Given the description of an element on the screen output the (x, y) to click on. 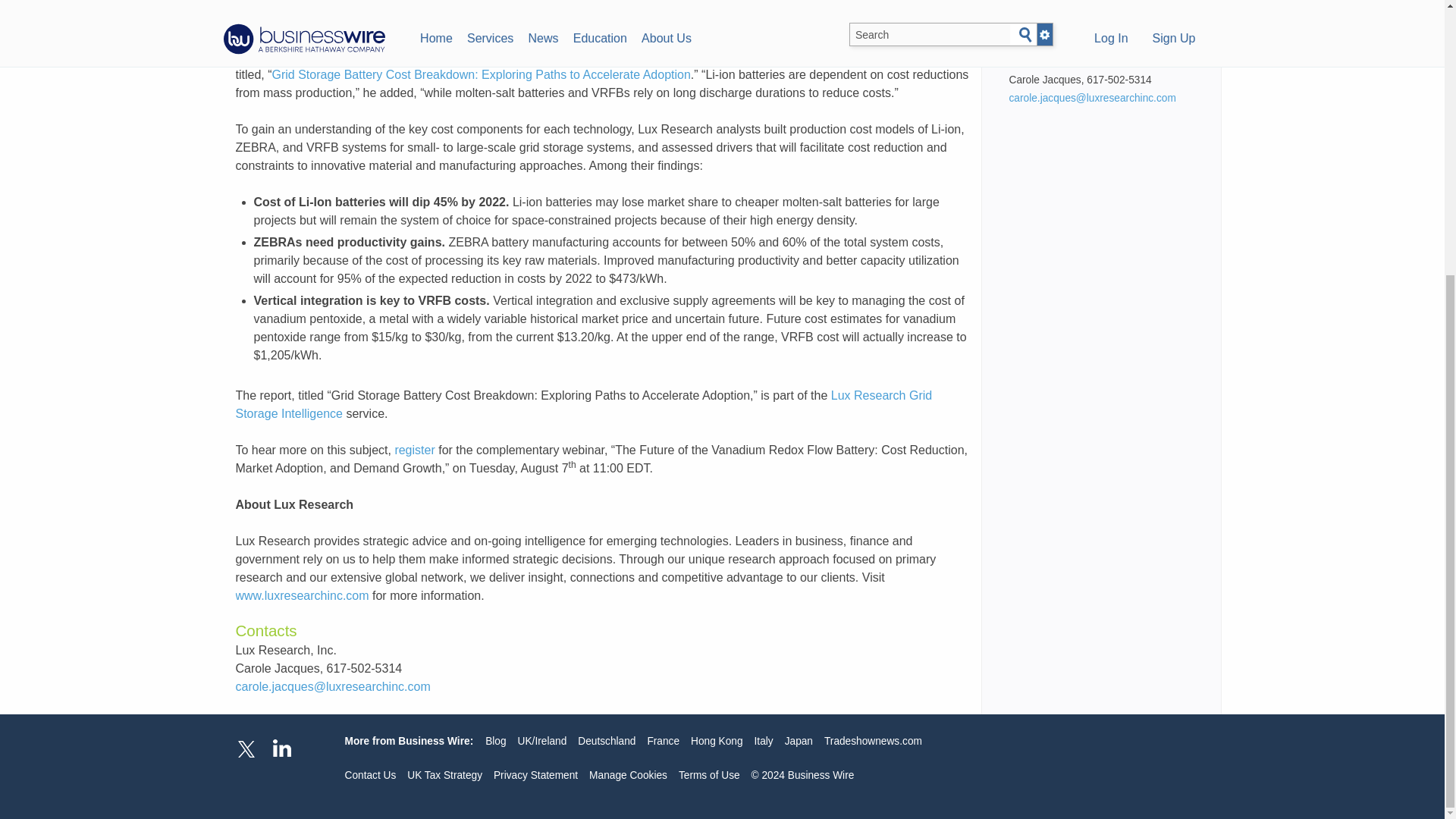
Lux Research Grid Storage Intelligence (582, 404)
register (413, 449)
www.luxresearchinc.com (301, 594)
